Given the description of an element on the screen output the (x, y) to click on. 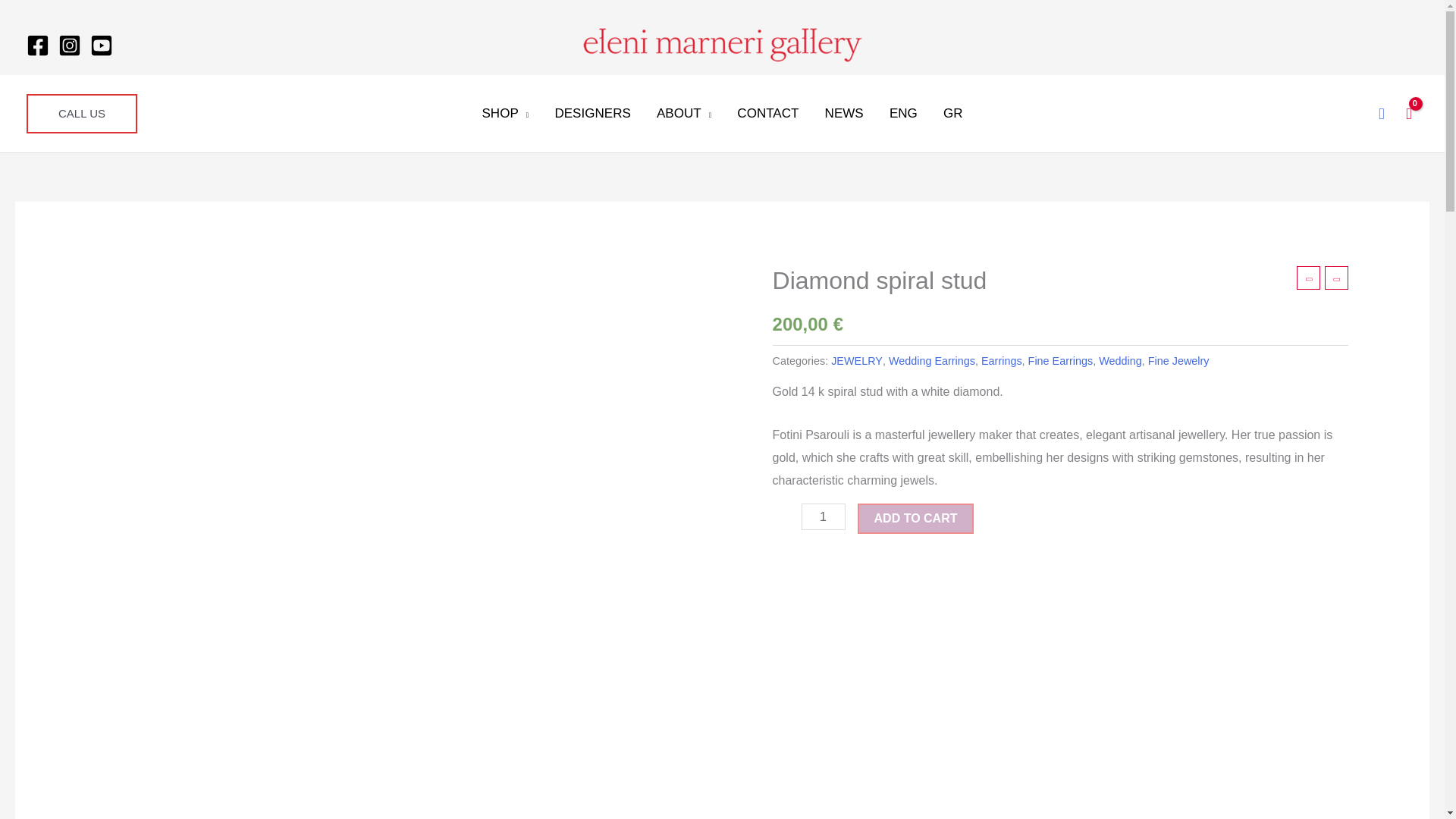
ENG (903, 113)
1 (823, 516)
CALL US (81, 113)
SHOP (504, 113)
